Given the description of an element on the screen output the (x, y) to click on. 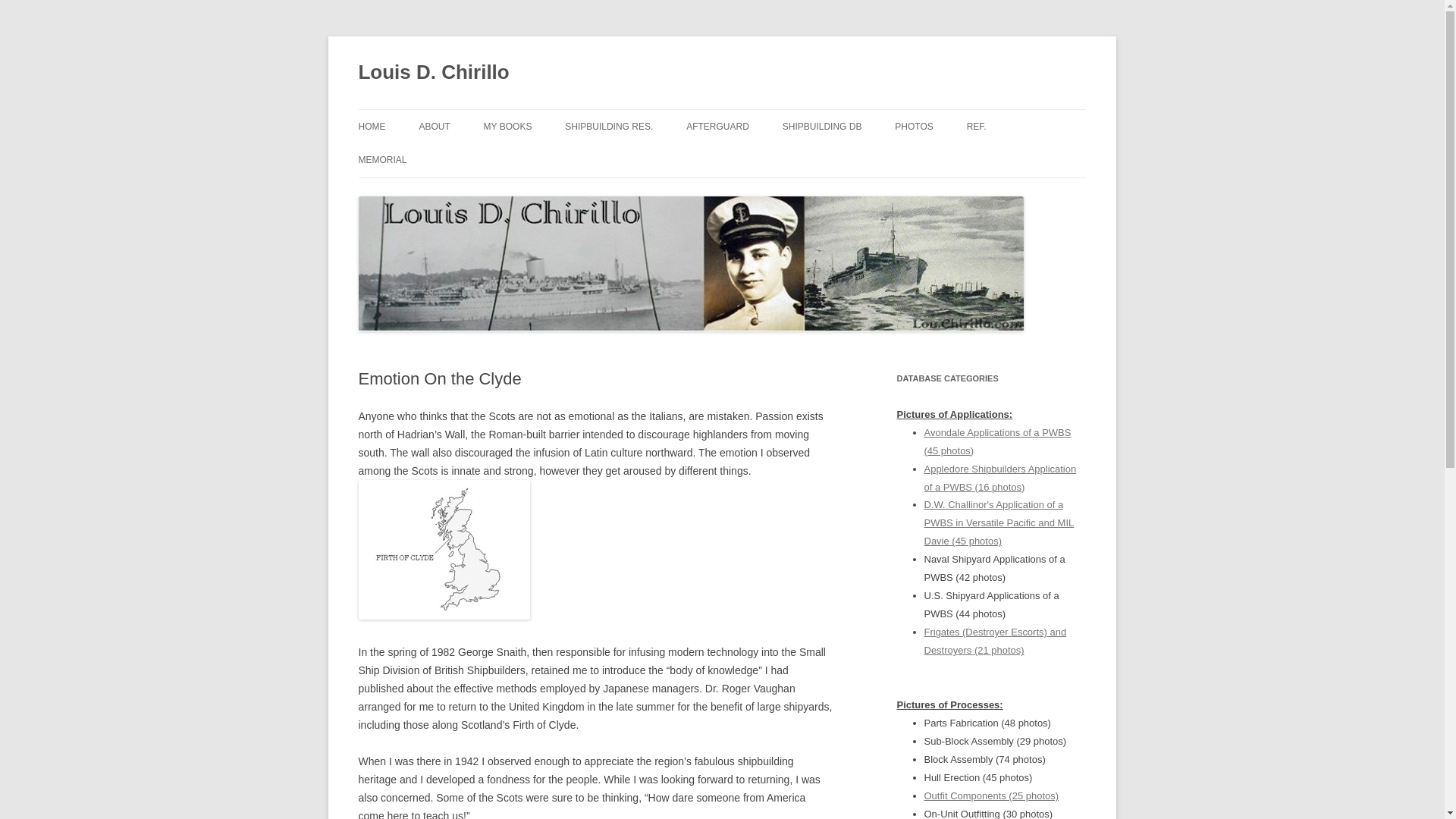
PHOTOS (914, 126)
ABOUT (434, 126)
AFTERGUARD (717, 126)
SHIPBUILDING DB (822, 126)
Louis D. Chirillo (433, 72)
MEMORIAL (382, 159)
MY BOOKS (507, 126)
I KNEW A LAD (558, 158)
SHIPBUILDING RES. (608, 126)
